Given the description of an element on the screen output the (x, y) to click on. 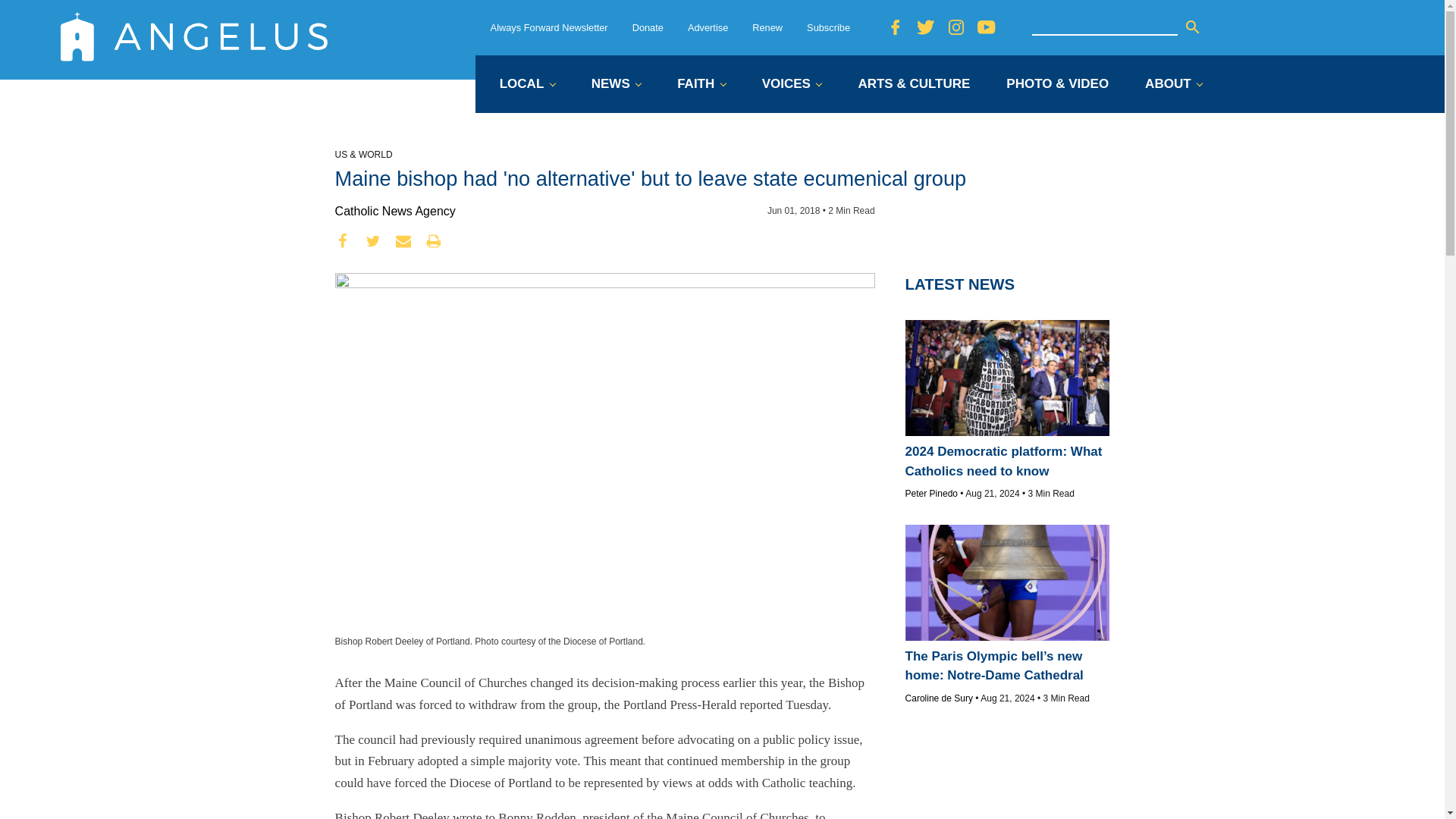
FAITH (701, 84)
VOICES (791, 84)
Posts by Peter Pinedo (931, 493)
Posts by Caroline de Sury (938, 697)
print (433, 240)
Donate (647, 27)
NEWS (615, 84)
Always Forward Newsletter (549, 27)
facebook (342, 240)
LOCAL (526, 84)
